Given the description of an element on the screen output the (x, y) to click on. 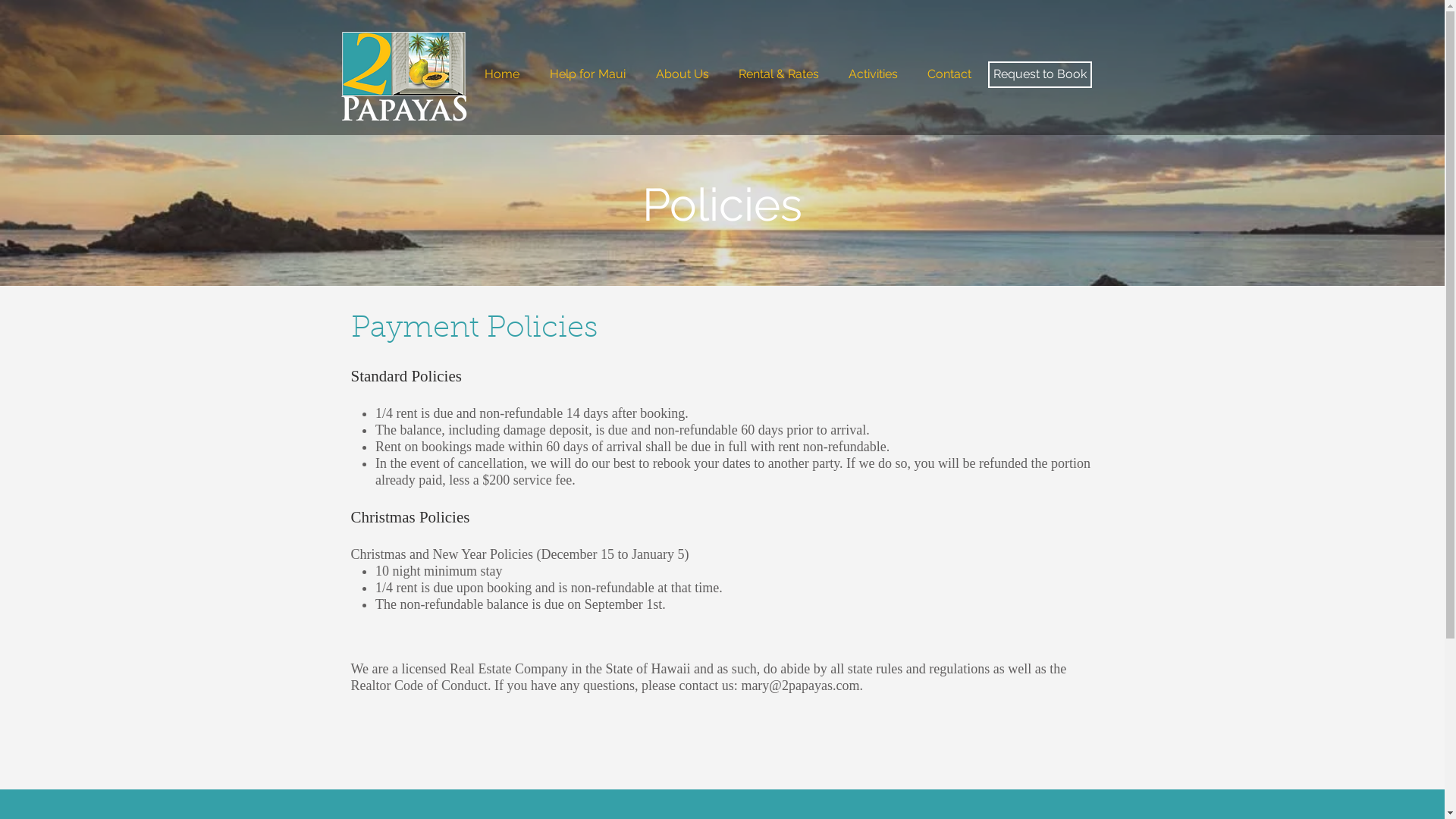
Help for Maui Element type: text (586, 73)
Activities Element type: text (873, 73)
About Us Element type: text (681, 73)
Request to Book Element type: text (1039, 74)
mary@2papayas.com Element type: text (799, 685)
Home Element type: text (500, 73)
Rental & Rates Element type: text (778, 73)
Contact Element type: text (949, 73)
